Given the description of an element on the screen output the (x, y) to click on. 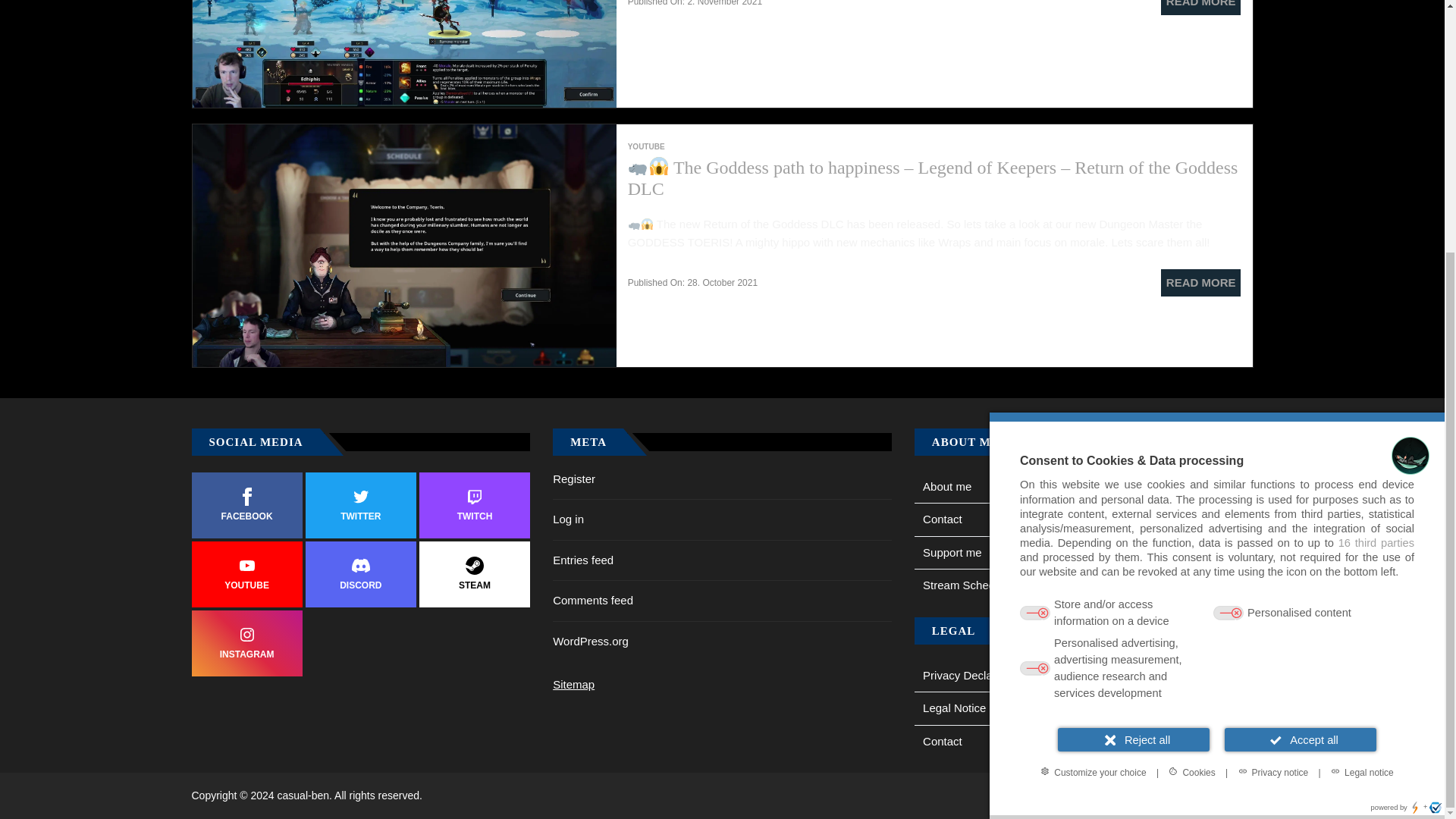
Customize your choice (1092, 416)
Privacy notice (1273, 416)
Legal notice (1361, 416)
casual-ben (306, 795)
Purpose (1216, 294)
Cookies (1191, 416)
Reject all (1133, 383)
16 third parties (1375, 186)
Accept all (1299, 383)
